Given the description of an element on the screen output the (x, y) to click on. 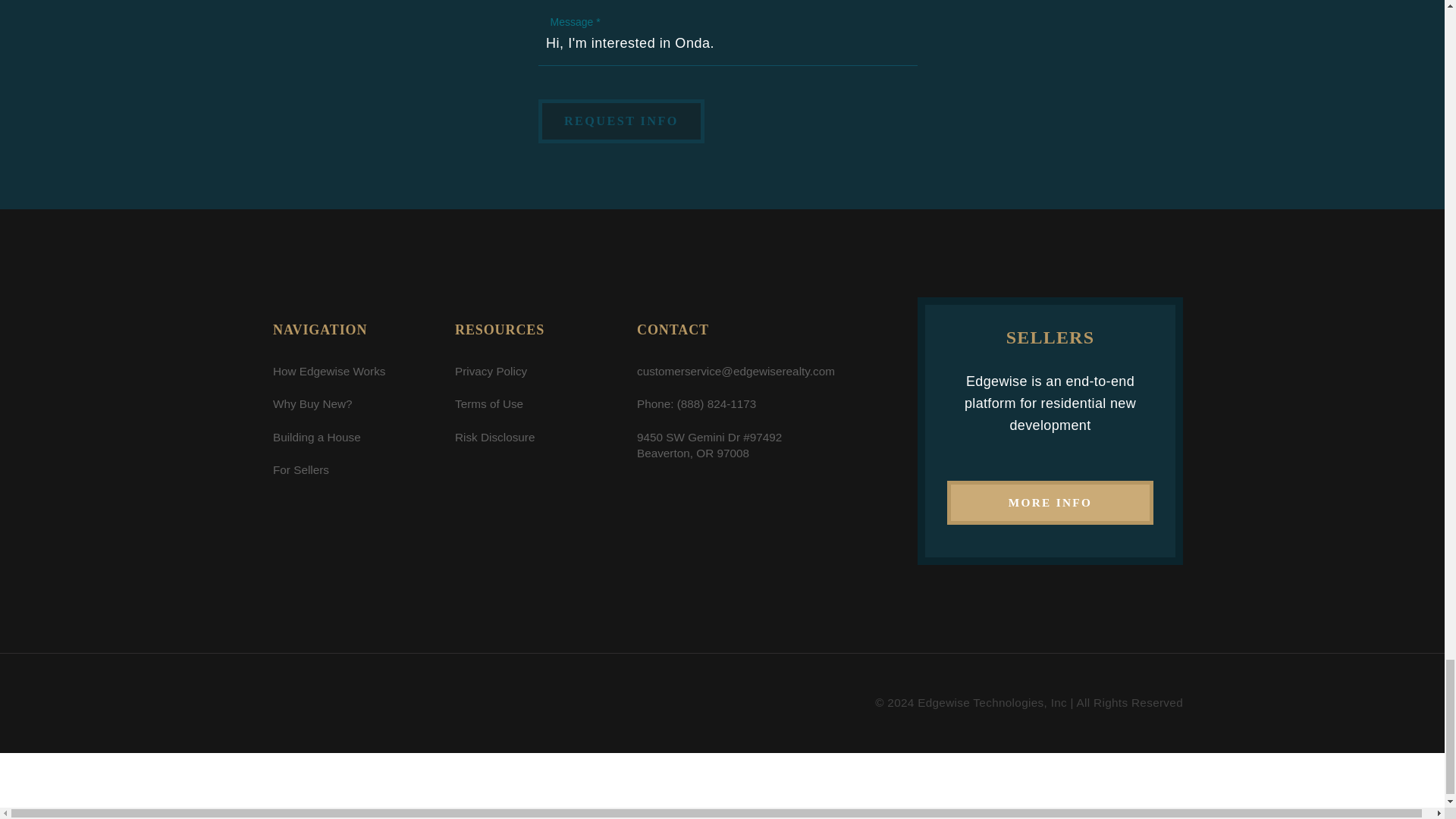
For Sellers (301, 469)
How Edgewise Works (329, 370)
REQUEST INFO (621, 121)
MORE INFO (1050, 502)
Why Buy New? (312, 403)
Privacy Policy (490, 370)
Terms of Use (488, 403)
Building a House (317, 436)
Risk Disclosure (494, 436)
